Given the description of an element on the screen output the (x, y) to click on. 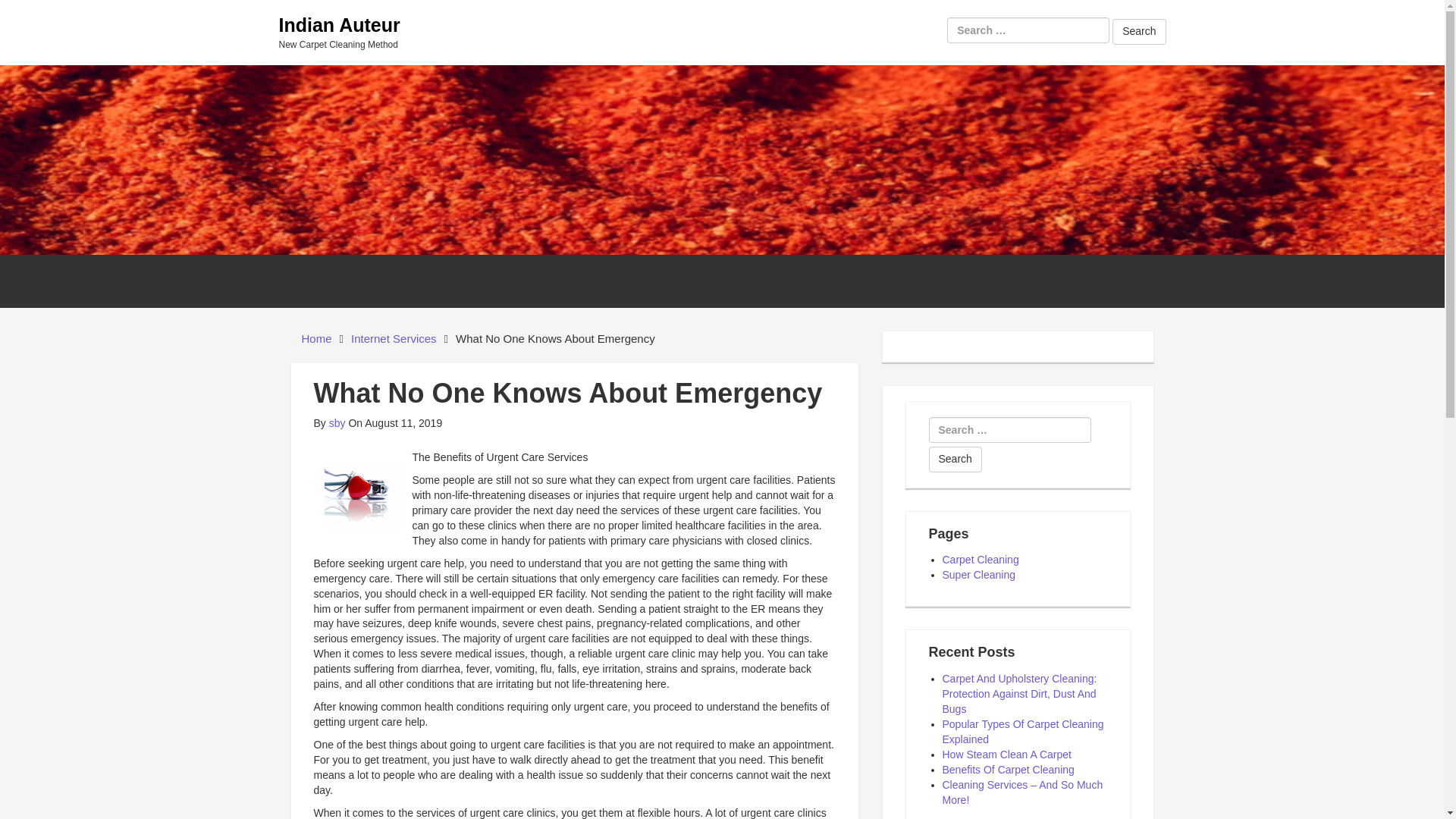
How Steam Clean A Carpet (1006, 754)
sby (337, 422)
Internet Services (393, 338)
Carpet Cleaning (979, 559)
Search (954, 459)
Sunday, August 11, 2019, 4:34 pm (394, 422)
Super Cleaning (978, 574)
Search (954, 459)
Search (1139, 31)
Benefits Of Carpet Cleaning (1008, 769)
Search (1139, 31)
Posts by sby (337, 422)
Indian Auteur (339, 25)
Home (316, 338)
